Given the description of an element on the screen output the (x, y) to click on. 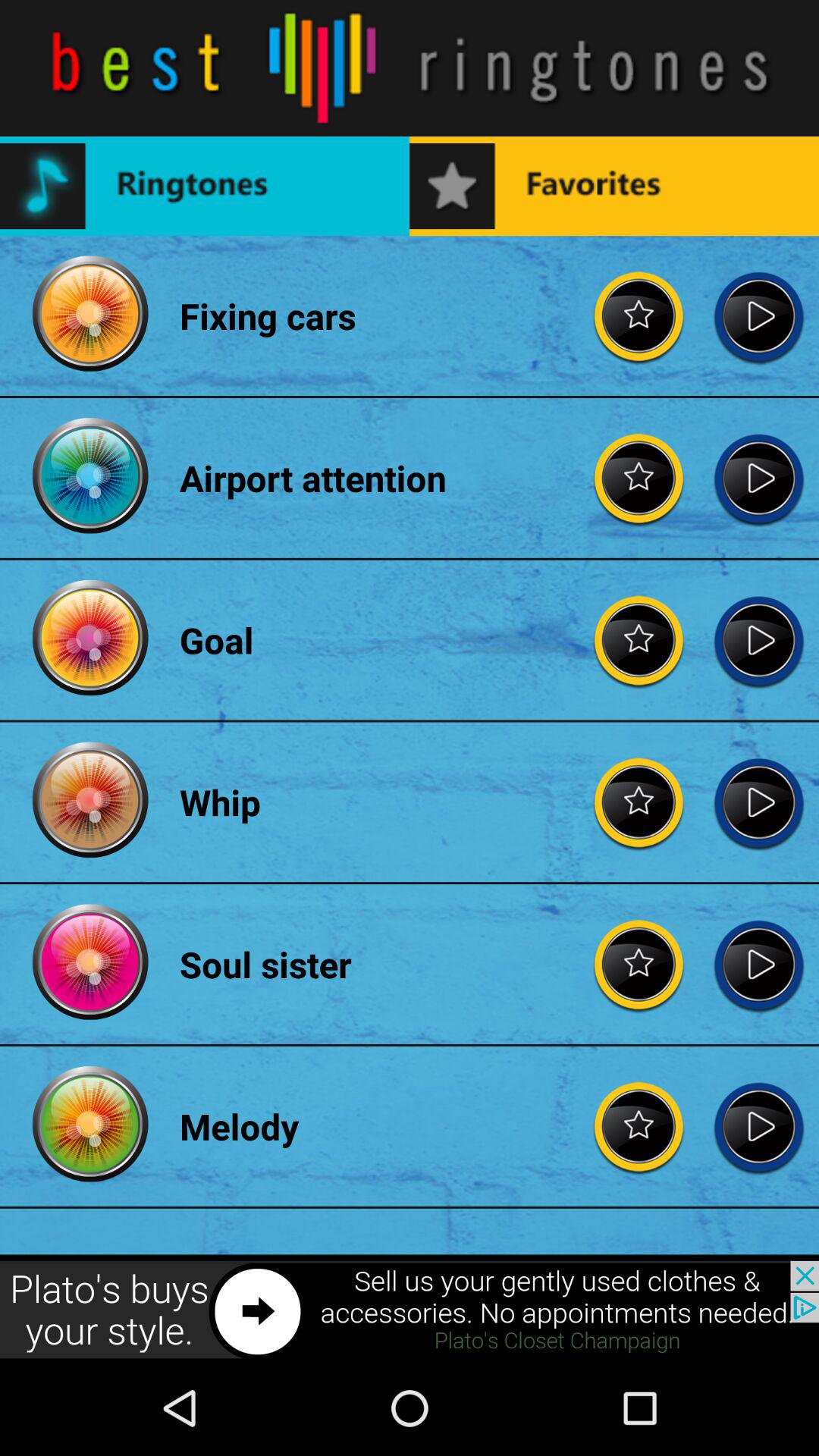
favorite the item (639, 964)
